Given the description of an element on the screen output the (x, y) to click on. 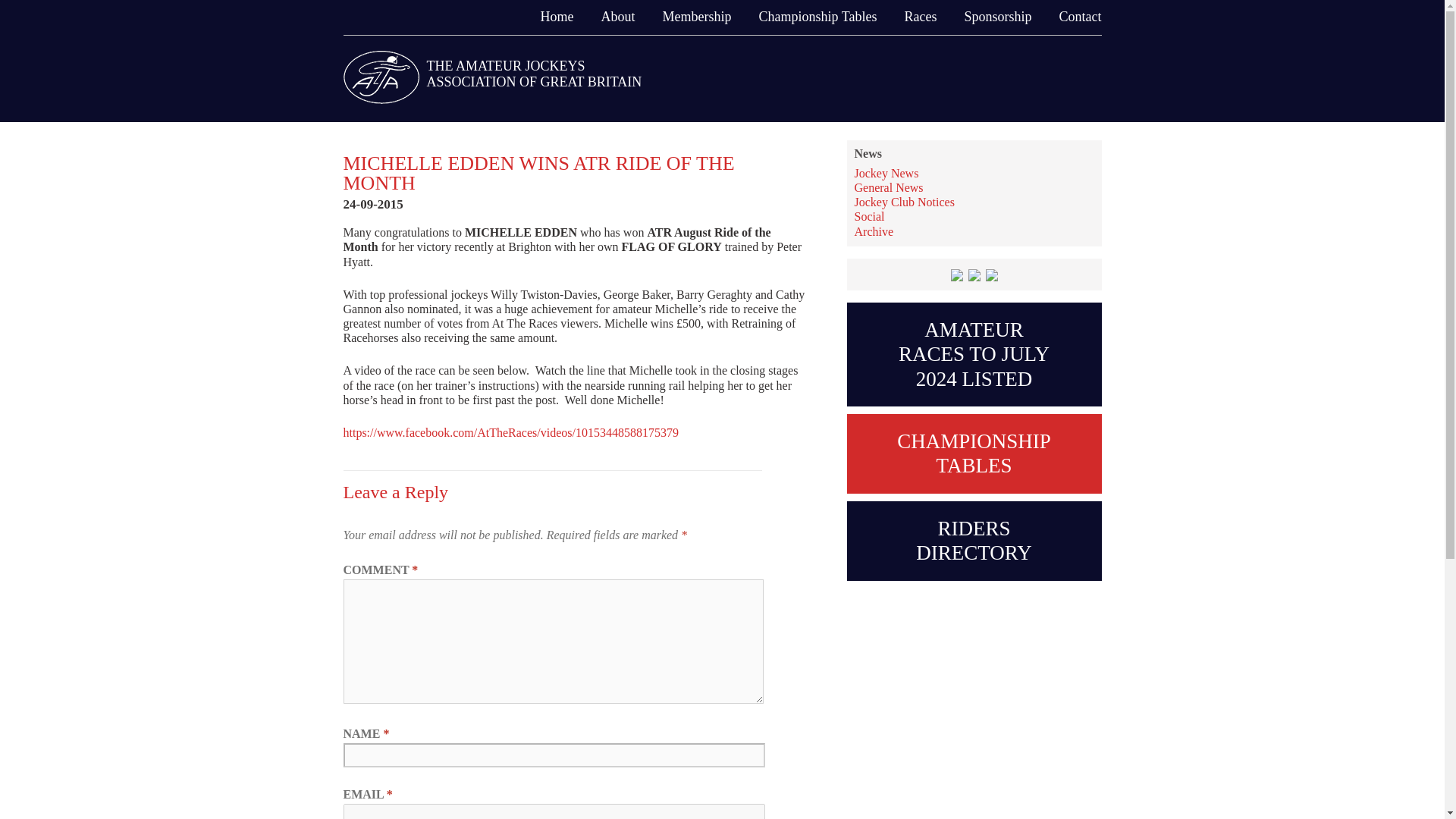
Championship Tables (813, 16)
RIDERS DIRECTORY (972, 540)
Archive (873, 231)
Contact (1074, 16)
Sponsorship (992, 16)
Social (868, 215)
Home (552, 16)
General News (888, 187)
CHAMPIONSHIP TABLES (972, 453)
Jockey Club Notices (903, 201)
Membership (692, 16)
Races (915, 16)
About (613, 16)
AMATEUR RACES TO JULY 2024 LISTED (972, 354)
Jockey News (885, 173)
